Given the description of an element on the screen output the (x, y) to click on. 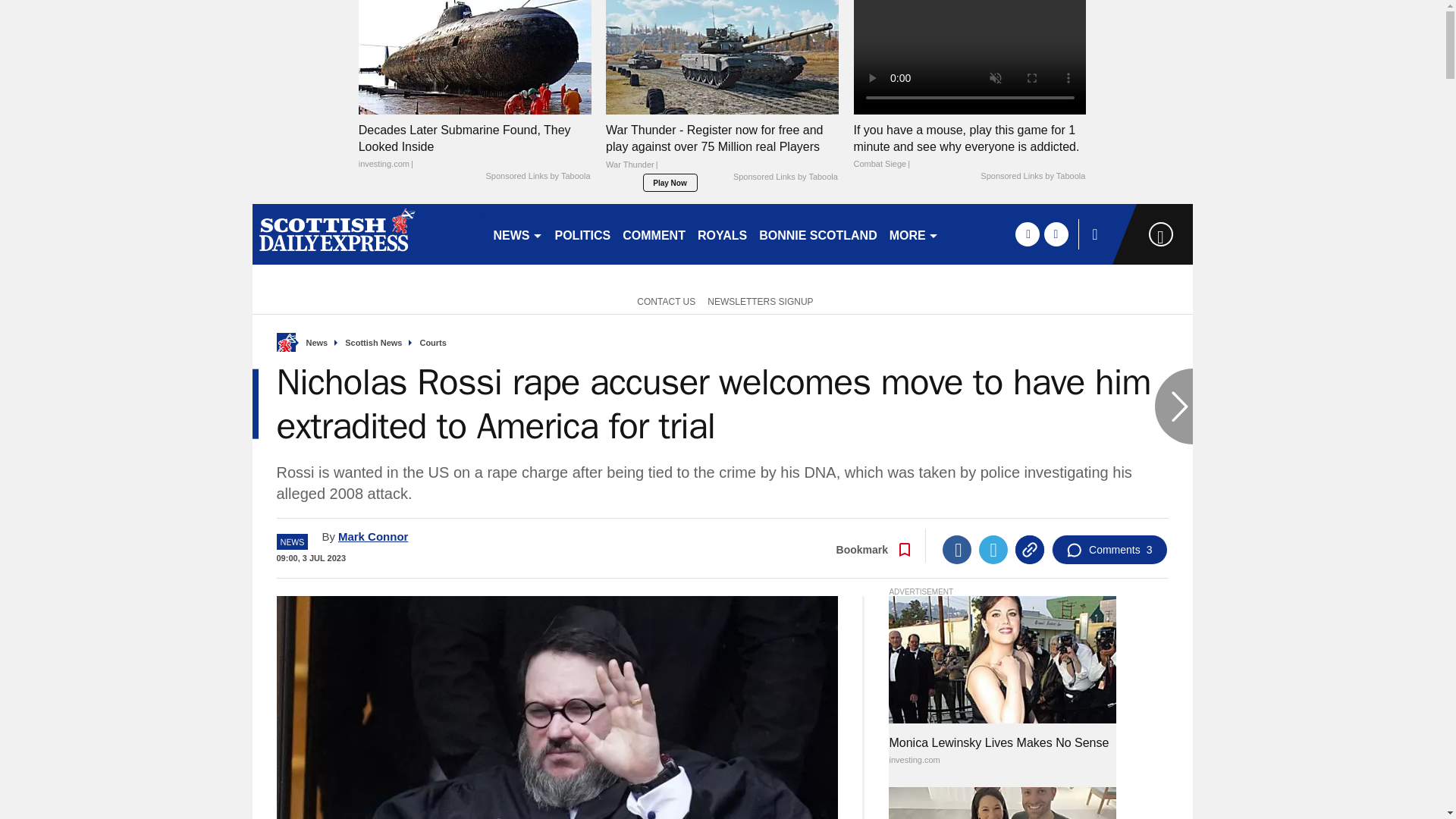
Sponsored Links by Taboola (785, 176)
COMMENT (653, 233)
Facebook (956, 549)
POLITICS (582, 233)
Twitter (992, 549)
Sponsored Links by Taboola (1031, 176)
facebook (1026, 233)
ROYALS (721, 233)
twitter (1055, 233)
NEWS (517, 233)
Decades Later Submarine Found, They Looked Inside (474, 146)
MORE (913, 233)
Play Now (670, 182)
BONNIE SCOTLAND (817, 233)
